Given the description of an element on the screen output the (x, y) to click on. 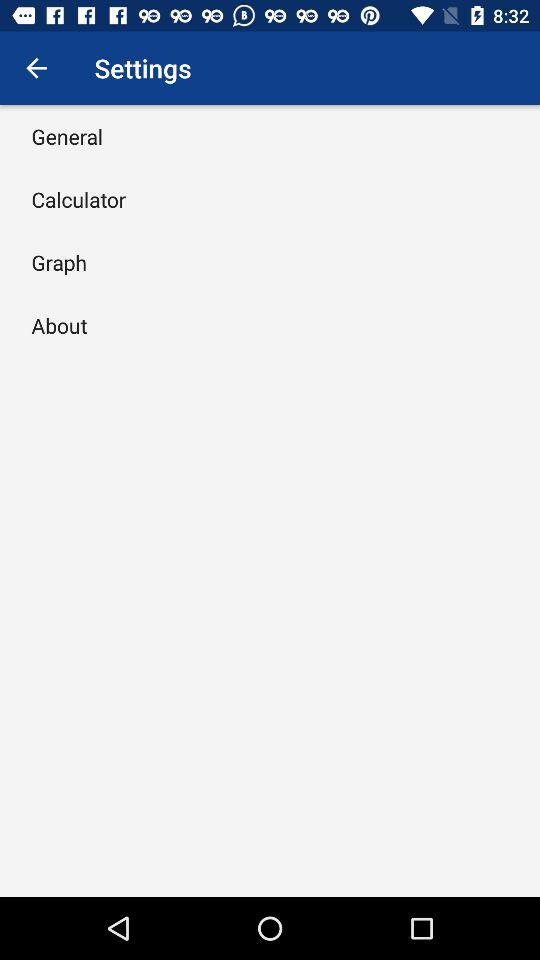
tap icon above calculator item (67, 136)
